Given the description of an element on the screen output the (x, y) to click on. 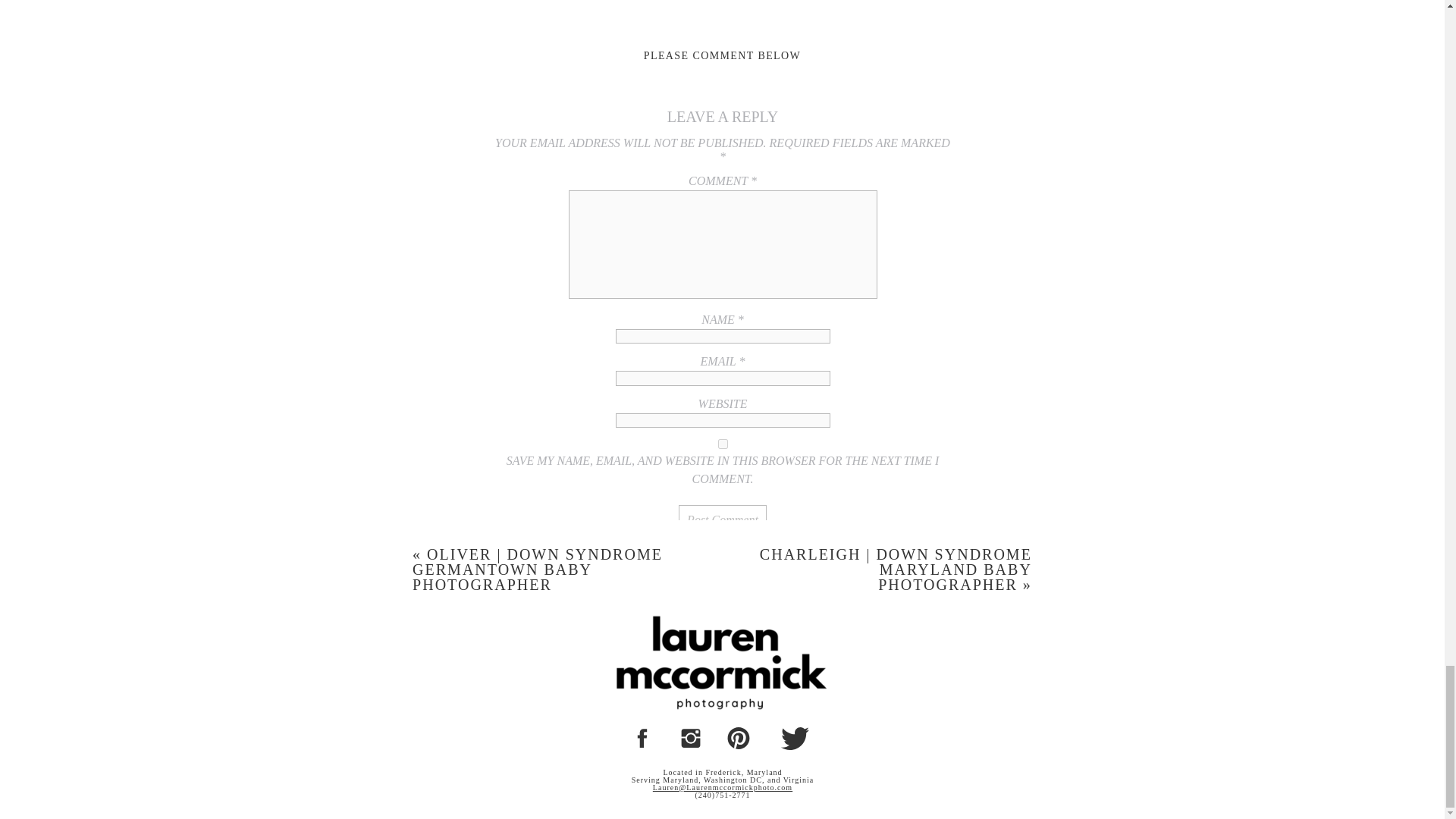
PLEASE COMMENT BELOW (721, 55)
yes (722, 443)
Post Comment (722, 520)
Post Comment (722, 520)
